Given the description of an element on the screen output the (x, y) to click on. 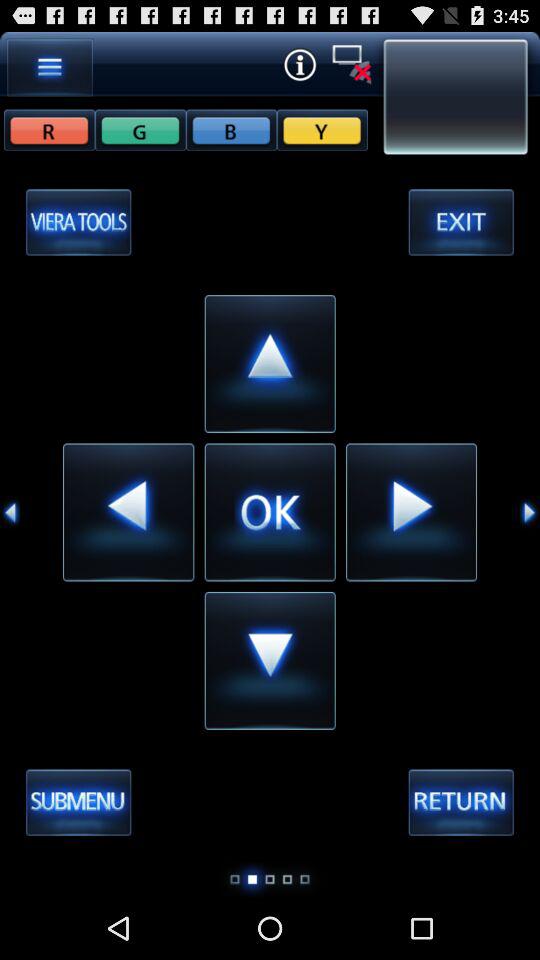
select the yellow color (322, 129)
click the ok button (270, 511)
select the right scroll (530, 512)
go to the second icon below menu (140, 129)
click return (461, 802)
go to submenu (78, 802)
